Given the description of an element on the screen output the (x, y) to click on. 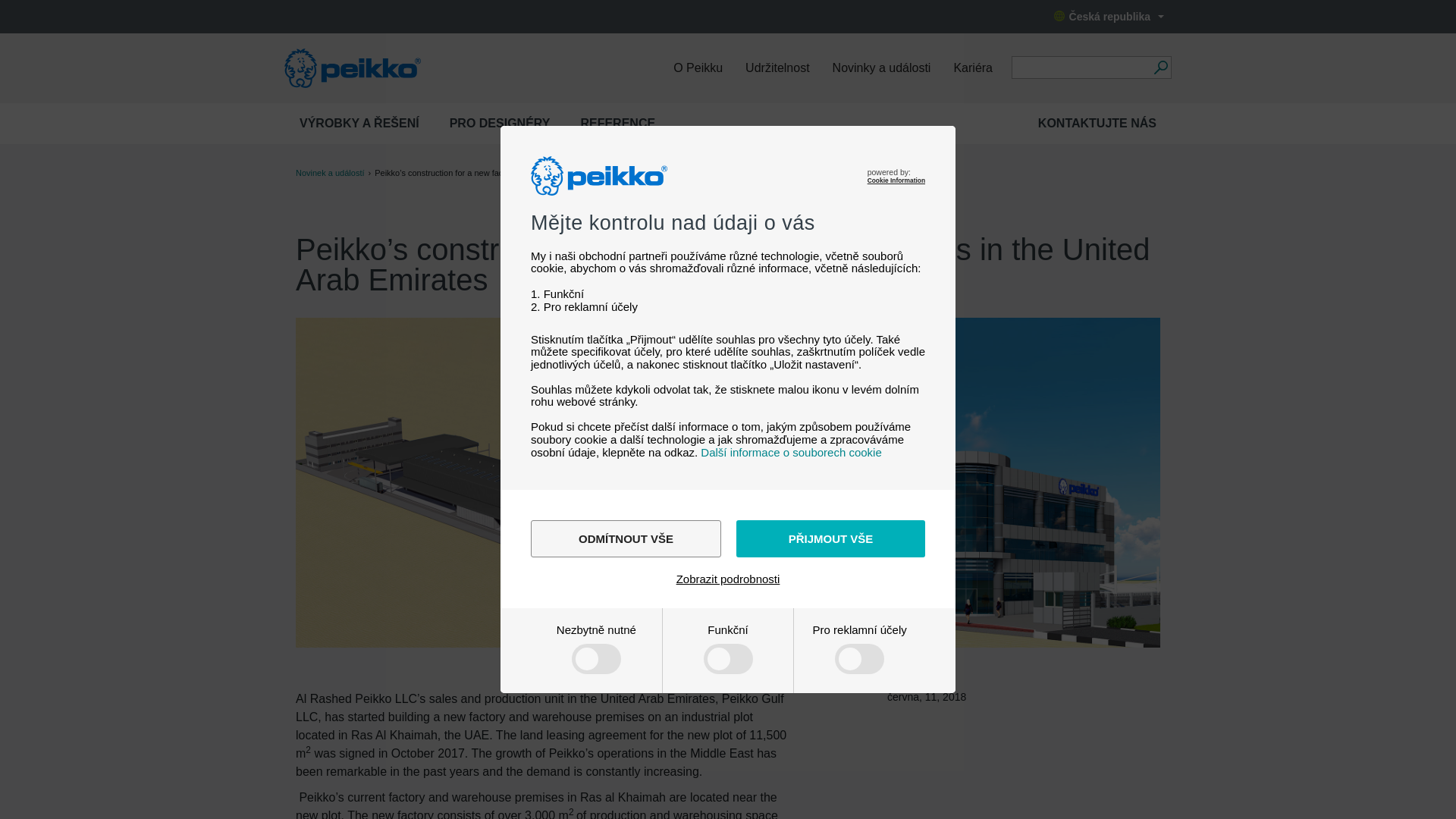
Cookie Information (895, 180)
Zobrazit podrobnosti (728, 578)
